Given the description of an element on the screen output the (x, y) to click on. 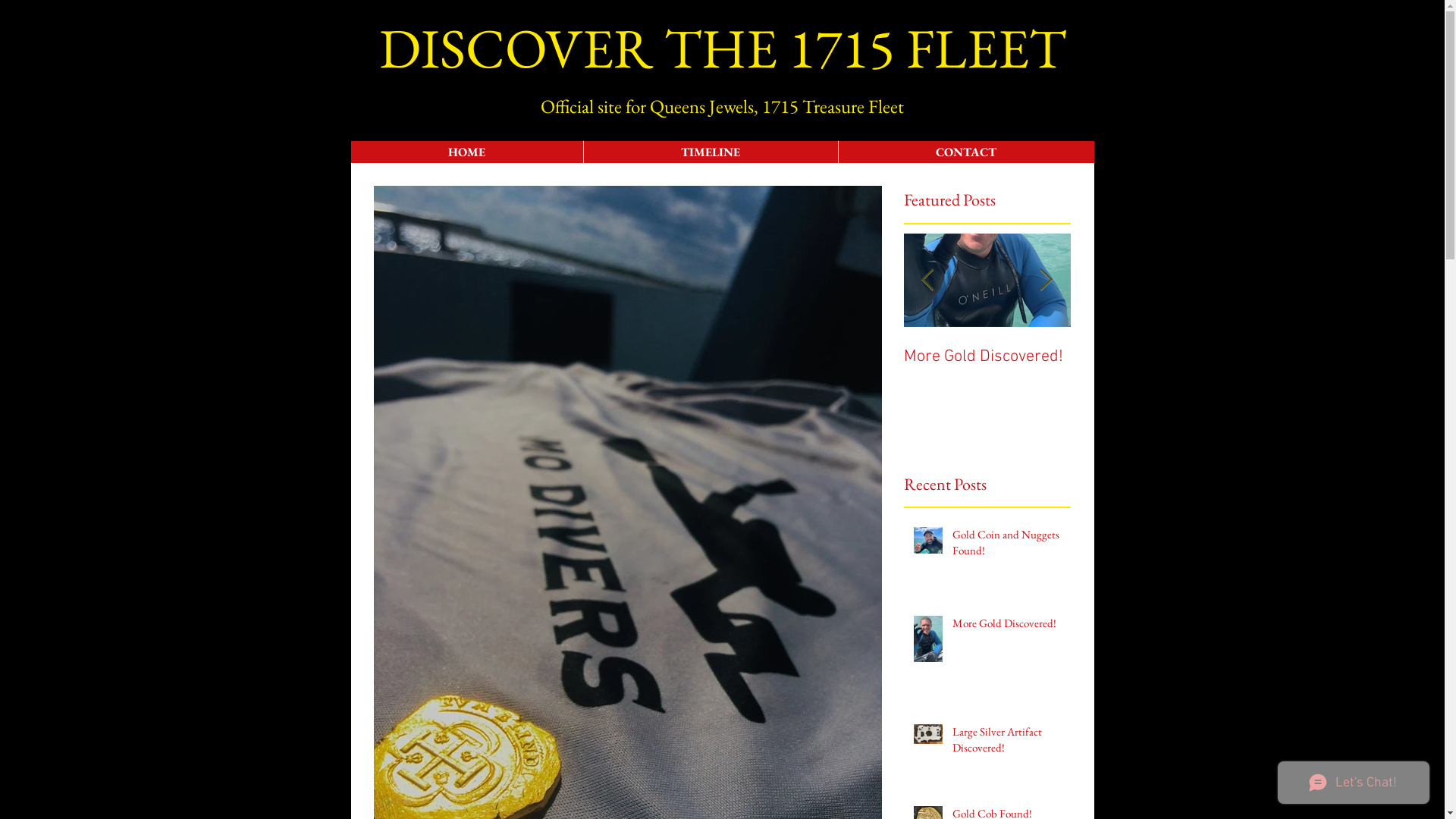
Large Silver Artifact Discovered! Element type: text (1006, 742)
More Gold Discovered! Element type: text (1143, 356)
Gold Coin and Nuggets Found! Element type: text (1006, 545)
CONTACT Element type: text (965, 152)
DISCOVER THE 1715 FLEET Element type: text (722, 47)
Official site for Queens Jewels, 1715 Treasure Fleet Element type: text (721, 106)
Gold Coin and Nuggets Found! Element type: text (979, 366)
HOME Element type: text (466, 152)
TIMELINE Element type: text (709, 152)
More Gold Discovered! Element type: text (1006, 626)
